Given the description of an element on the screen output the (x, y) to click on. 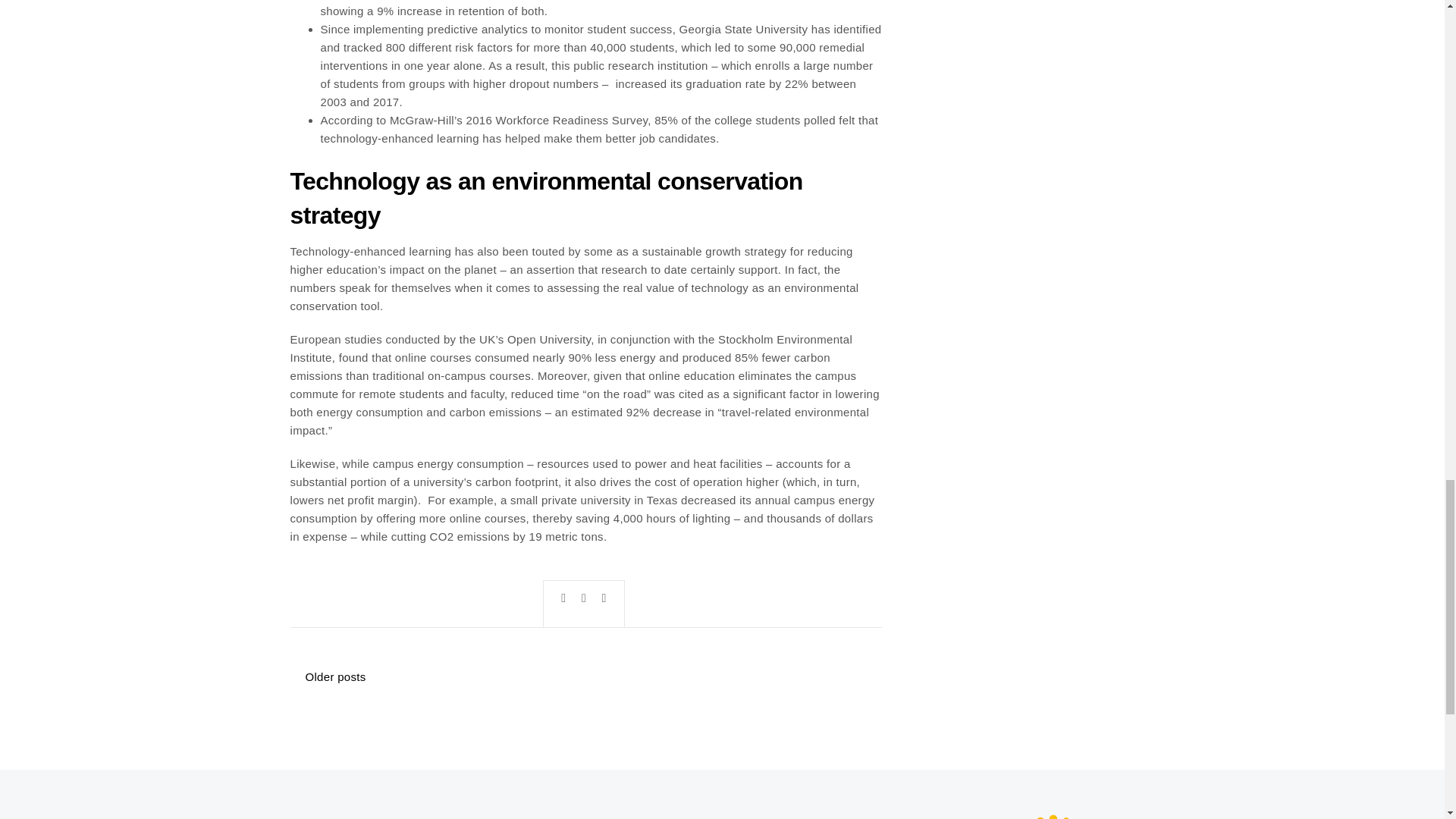
Older posts (334, 676)
